Given the description of an element on the screen output the (x, y) to click on. 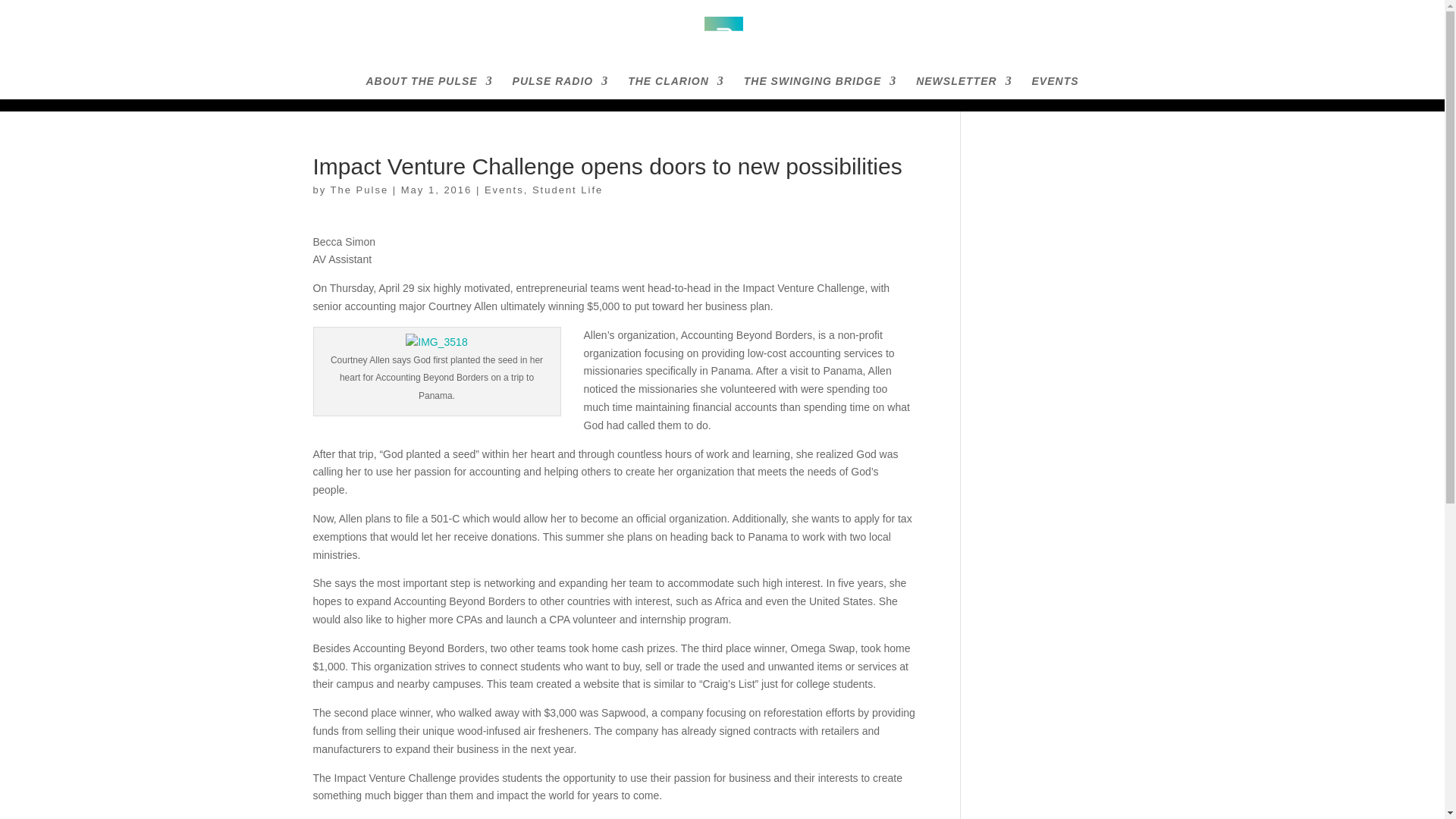
PULSE RADIO (560, 87)
THE SWINGING BRIDGE (820, 87)
The Pulse (359, 189)
Events (504, 189)
Student Life (567, 189)
Posts by The Pulse (359, 189)
ABOUT THE PULSE (428, 87)
THE CLARION (675, 87)
EVENTS (1055, 87)
NEWSLETTER (963, 87)
